Given the description of an element on the screen output the (x, y) to click on. 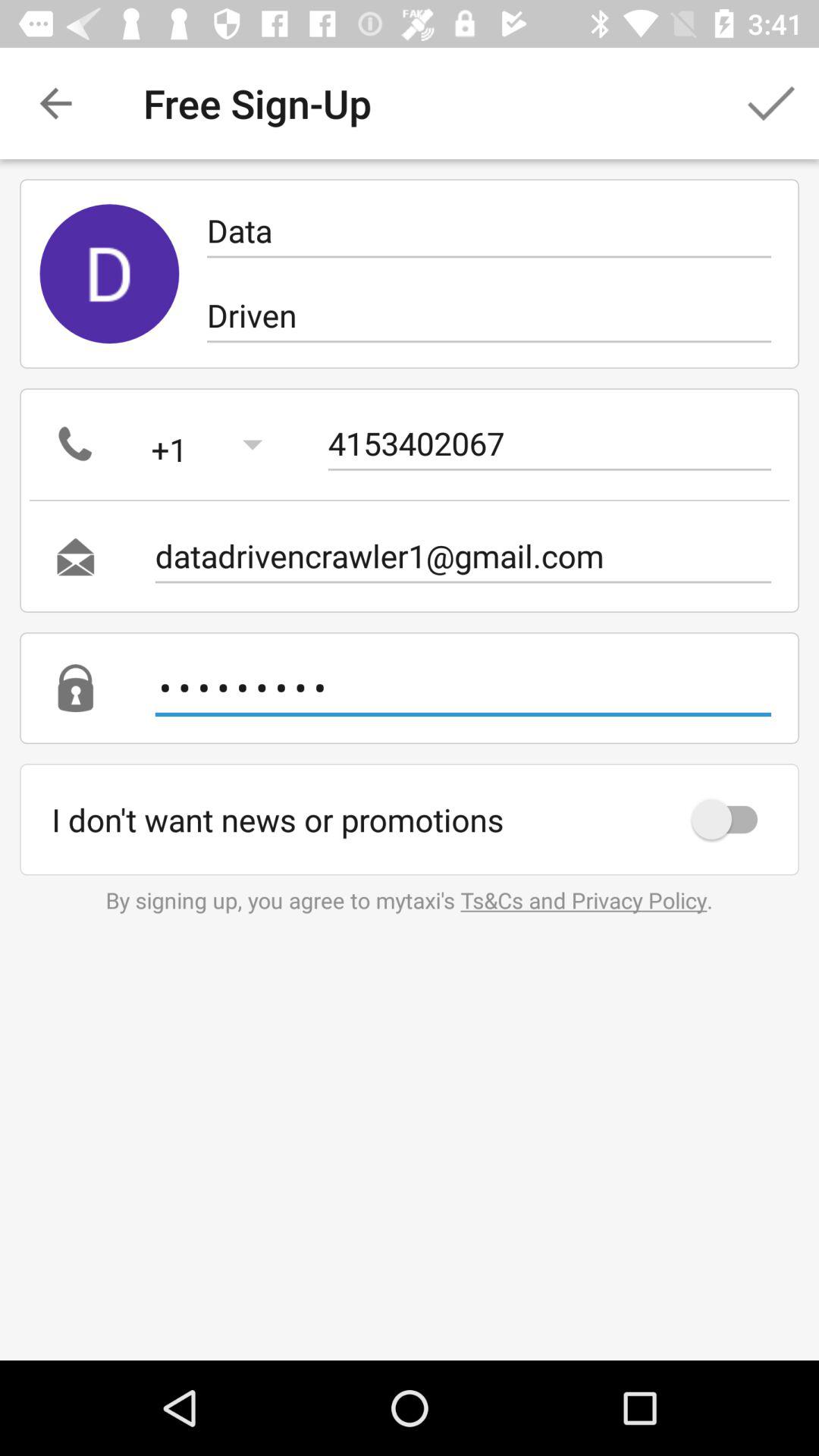
jump to the by signing up item (408, 899)
